Given the description of an element on the screen output the (x, y) to click on. 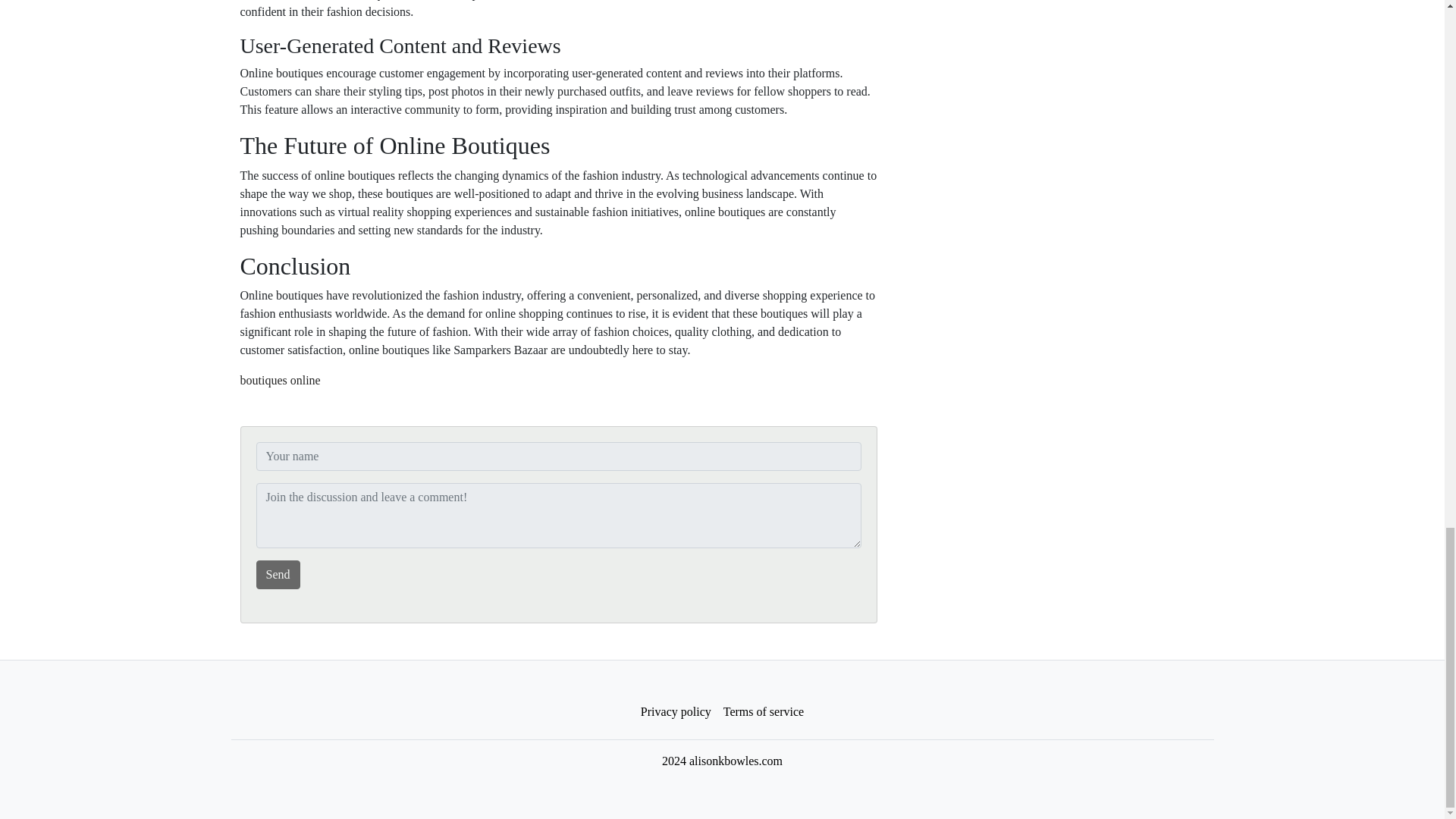
Terms of service (763, 711)
boutiques online (280, 379)
Send (277, 574)
Send (277, 574)
Privacy policy (675, 711)
